Given the description of an element on the screen output the (x, y) to click on. 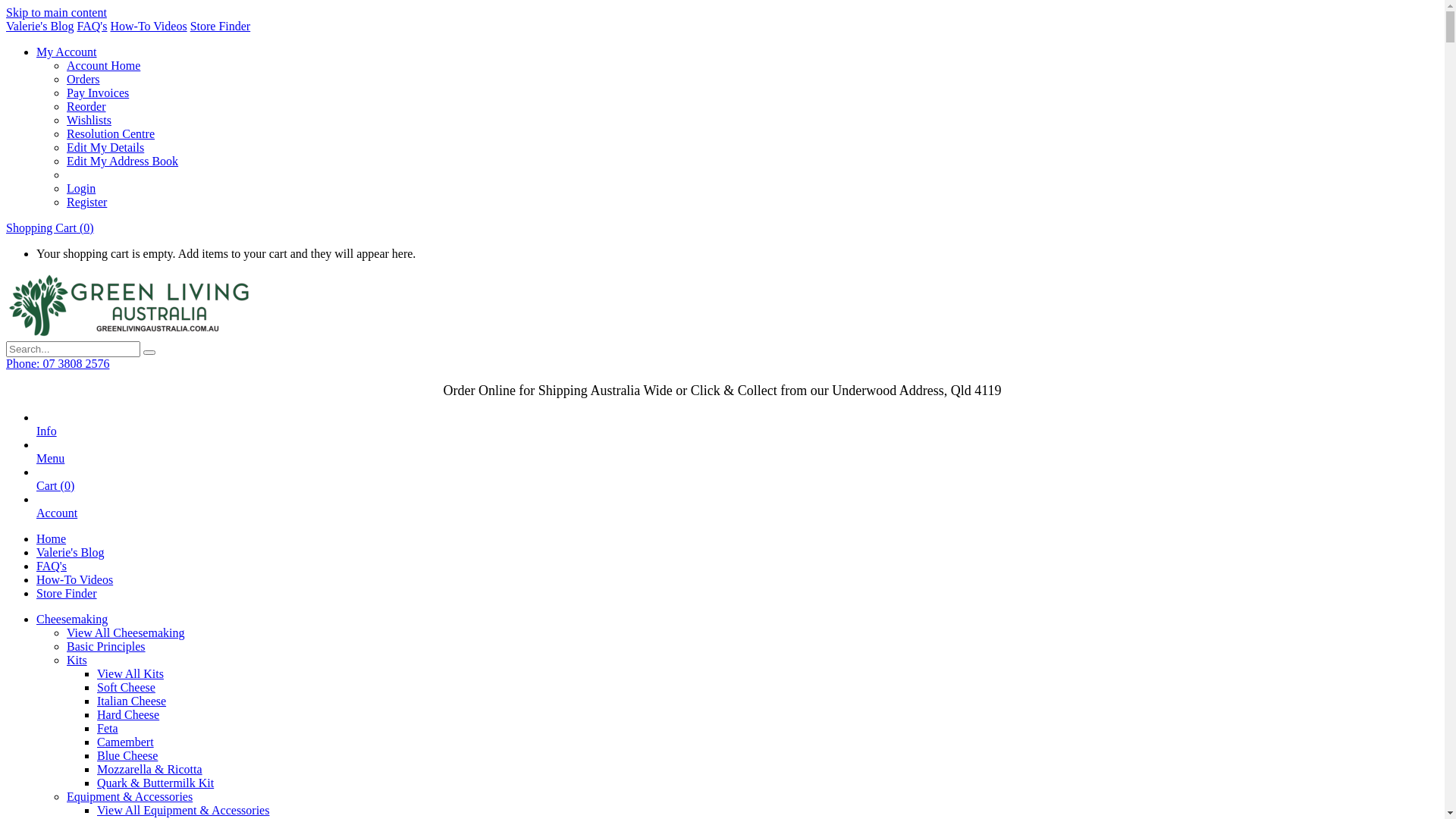
Store Finder Element type: text (66, 592)
My Account Element type: text (66, 51)
Hard Cheese Element type: text (128, 714)
Reorder Element type: text (86, 106)
Resolution Centre Element type: text (110, 133)
Wishlists Element type: text (88, 119)
Soft Cheese Element type: text (126, 686)
Cheesemaking Element type: text (71, 618)
Mozzarella & Ricotta Element type: text (149, 768)
Pay Invoices Element type: text (97, 92)
How-To Videos Element type: text (74, 579)
Feta Element type: text (107, 727)
Menu Element type: text (50, 464)
View All Kits Element type: text (130, 673)
Search Element type: text (149, 352)
Camembert Element type: text (125, 741)
Valerie's Blog Element type: text (70, 552)
Account Element type: text (56, 519)
Phone: 07 3808 2576 Element type: text (57, 363)
View All Equipment & Accessories Element type: text (183, 809)
Home Element type: text (50, 538)
How-To Videos Element type: text (147, 25)
Green Living Australia (QLD) Pty. Ltd. Element type: hover (129, 333)
Register Element type: text (86, 201)
Valerie's Blog Element type: text (40, 25)
Quark & Buttermilk Kit Element type: text (155, 782)
Orders Element type: text (83, 78)
Equipment & Accessories Element type: text (129, 796)
Edit My Address Book Element type: text (122, 160)
Cart (0) Element type: text (55, 492)
View All Cheesemaking Element type: text (125, 632)
Shopping Cart (0) Element type: text (50, 227)
FAQ's Element type: text (92, 25)
Account Home Element type: text (103, 65)
Skip to main content Element type: text (56, 12)
Info Element type: text (46, 437)
Italian Cheese Element type: text (131, 700)
Blue Cheese Element type: text (127, 755)
Store Finder Element type: text (220, 25)
Login Element type: text (80, 188)
Basic Principles Element type: text (105, 646)
Edit My Details Element type: text (105, 147)
FAQ's Element type: text (51, 565)
Kits Element type: text (76, 659)
